Given the description of an element on the screen output the (x, y) to click on. 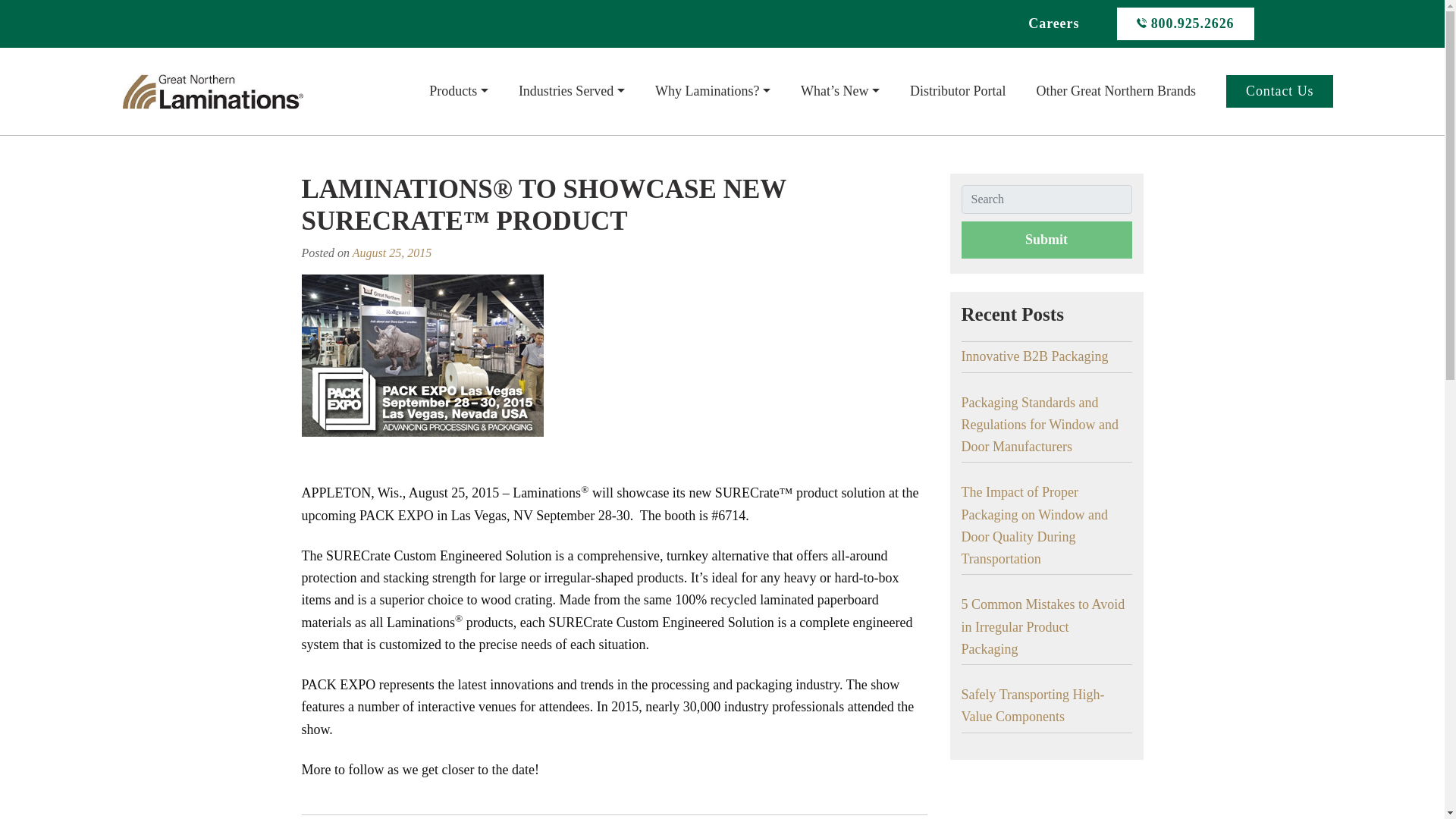
Products (458, 91)
800.925.2626 (1184, 23)
Industries Served (571, 91)
Products (458, 91)
Careers (1052, 23)
